Given the description of an element on the screen output the (x, y) to click on. 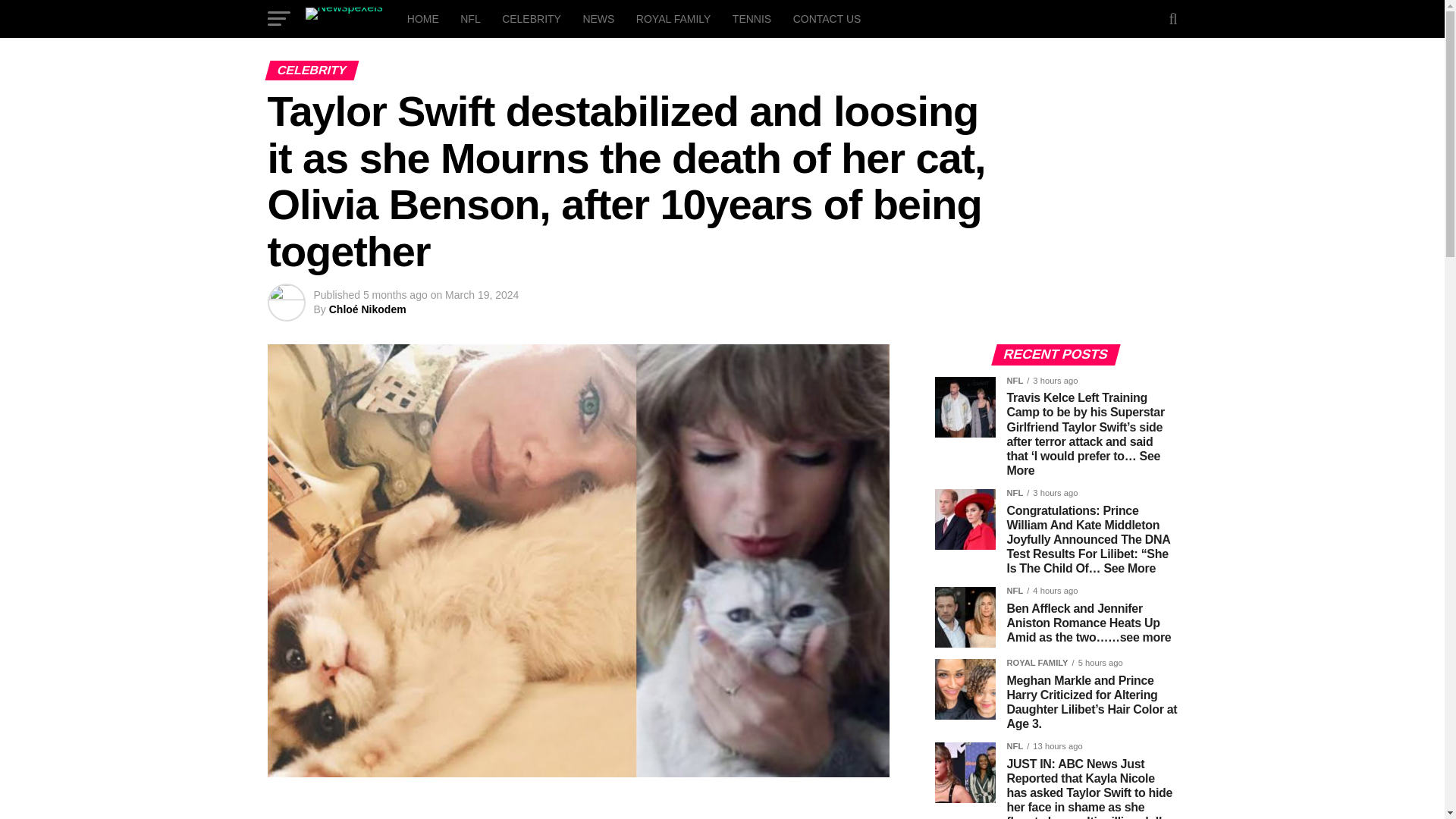
NEWS (598, 18)
CONTACT US (827, 18)
RECENT POSTS (1056, 354)
TENNIS (751, 18)
CELEBRITY (531, 18)
NFL (470, 18)
HOME (422, 18)
ROYAL FAMILY (673, 18)
